Given the description of an element on the screen output the (x, y) to click on. 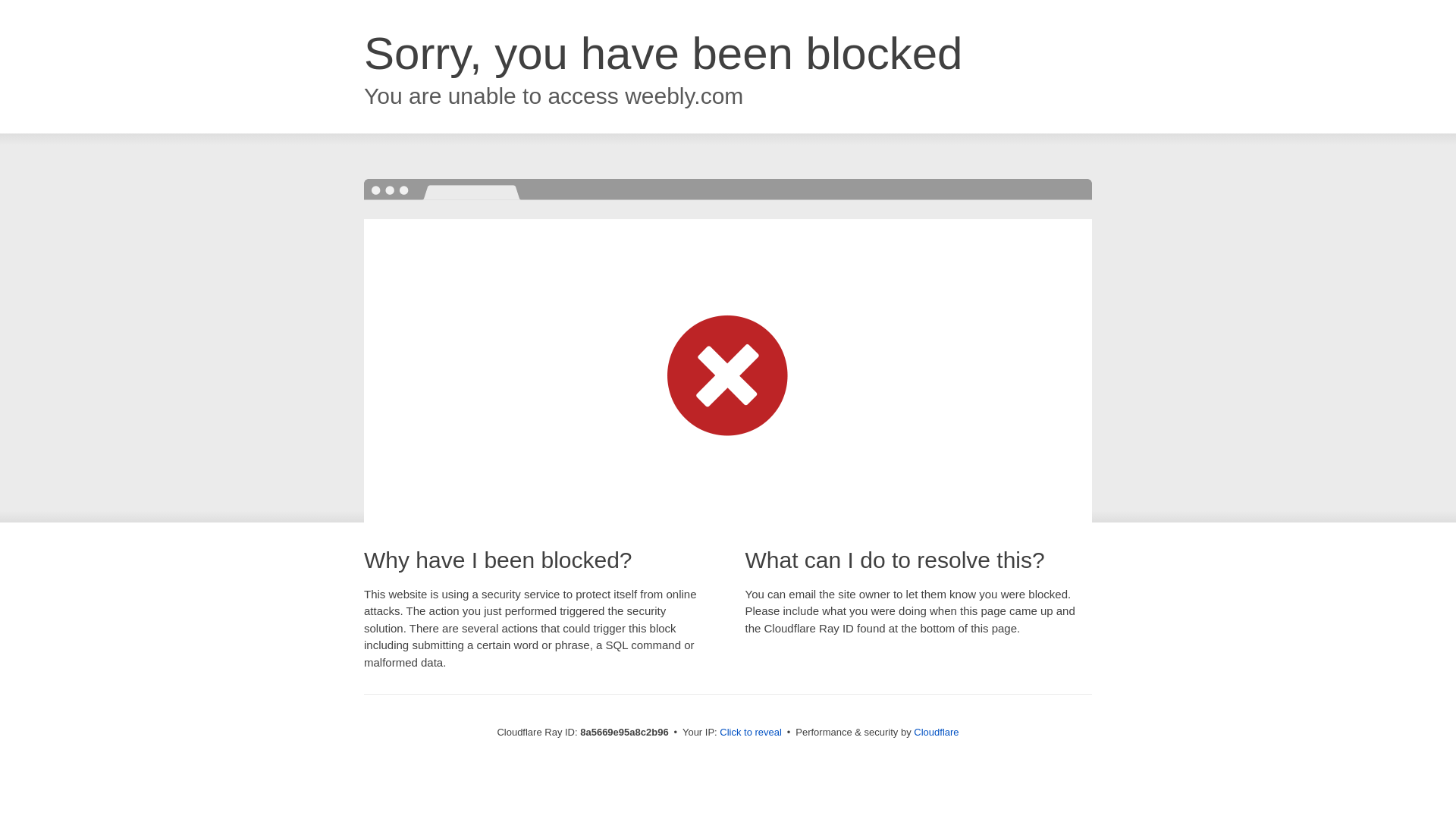
Click to reveal (750, 732)
Cloudflare (936, 731)
